Given the description of an element on the screen output the (x, y) to click on. 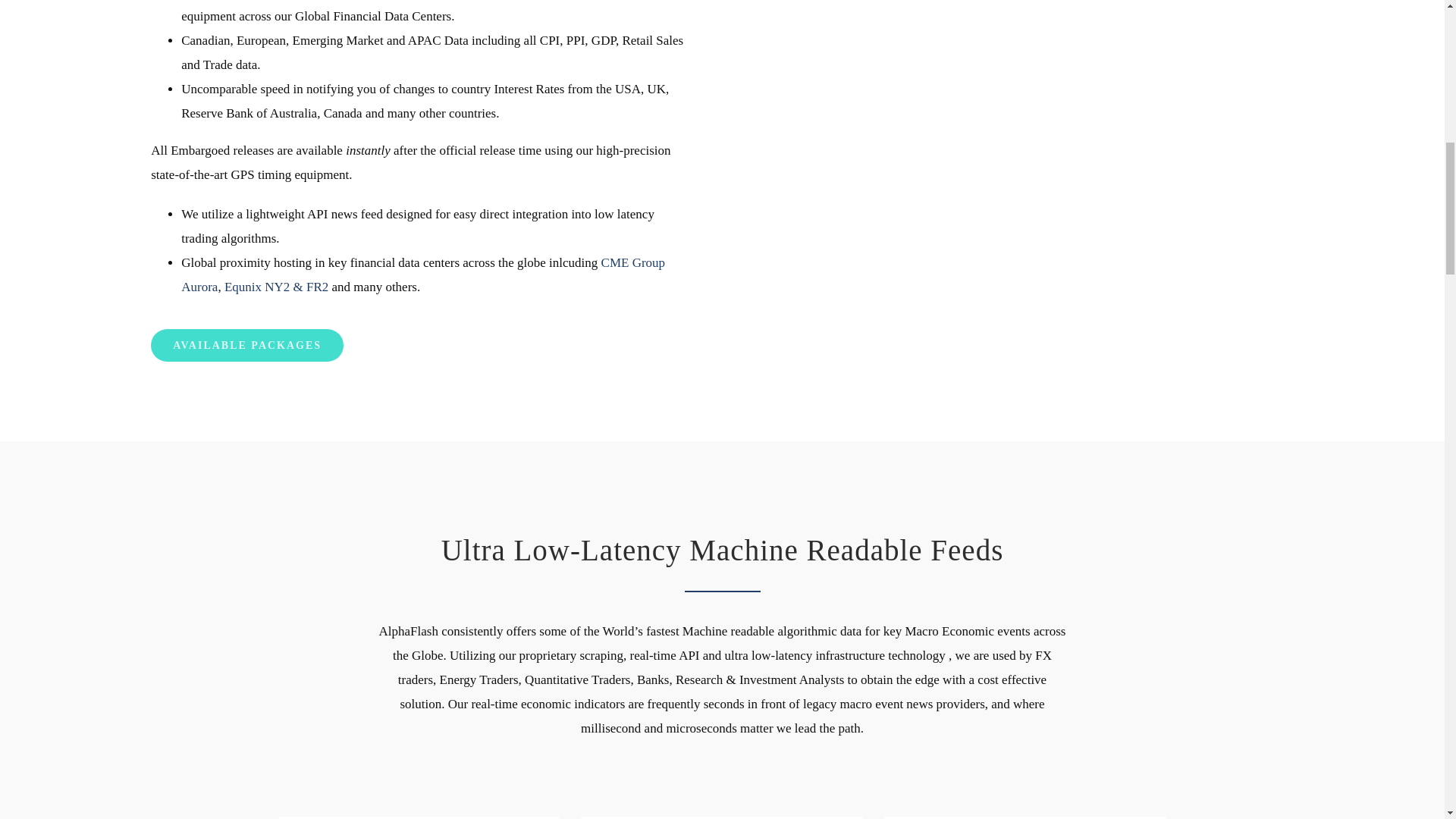
AVAILABLE PACKAGES (247, 345)
Find out about our many options (247, 345)
CME Group Aurora (422, 274)
